Given the description of an element on the screen output the (x, y) to click on. 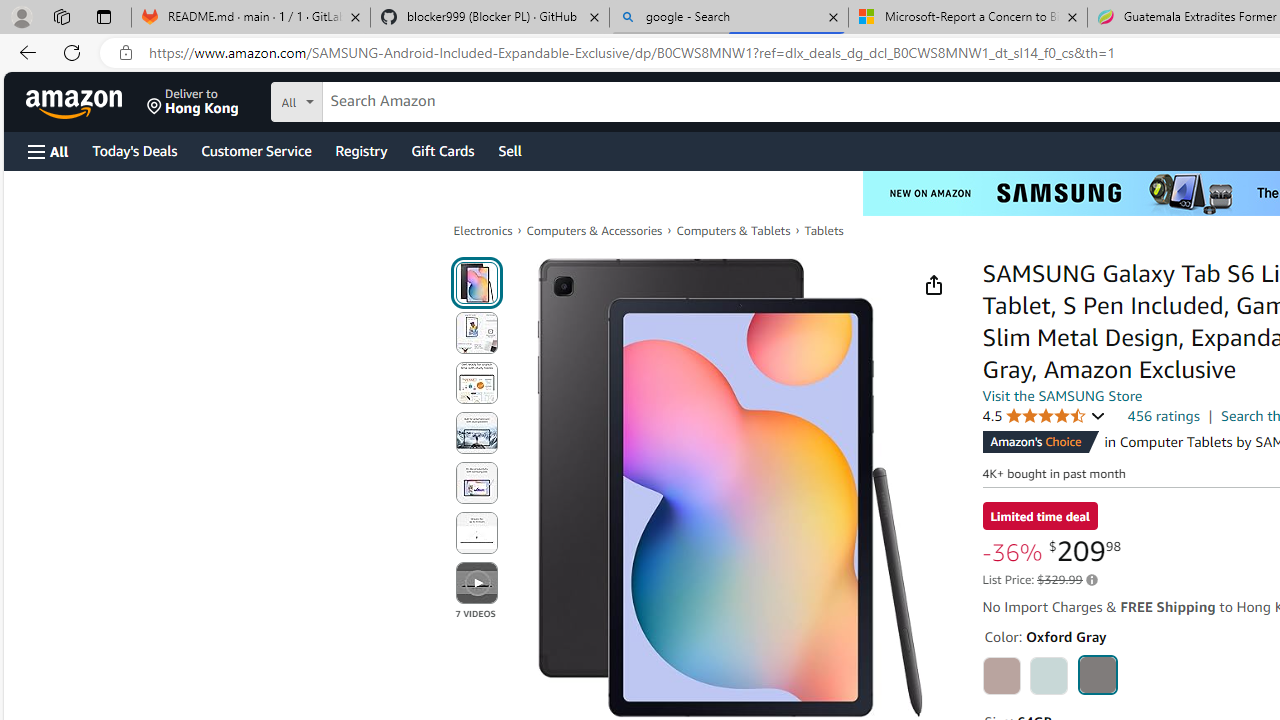
4.5 4.5 out of 5 stars (1043, 416)
Computers & Accessories (594, 230)
Oxford Gray (1097, 674)
Share (933, 284)
Visit the SAMSUNG Store (1062, 395)
Gift Cards (442, 150)
Computers & Tablets (733, 230)
Tablets (823, 230)
Mint (1048, 676)
Amazon (76, 101)
Chiffon Pink (1001, 676)
